Given the description of an element on the screen output the (x, y) to click on. 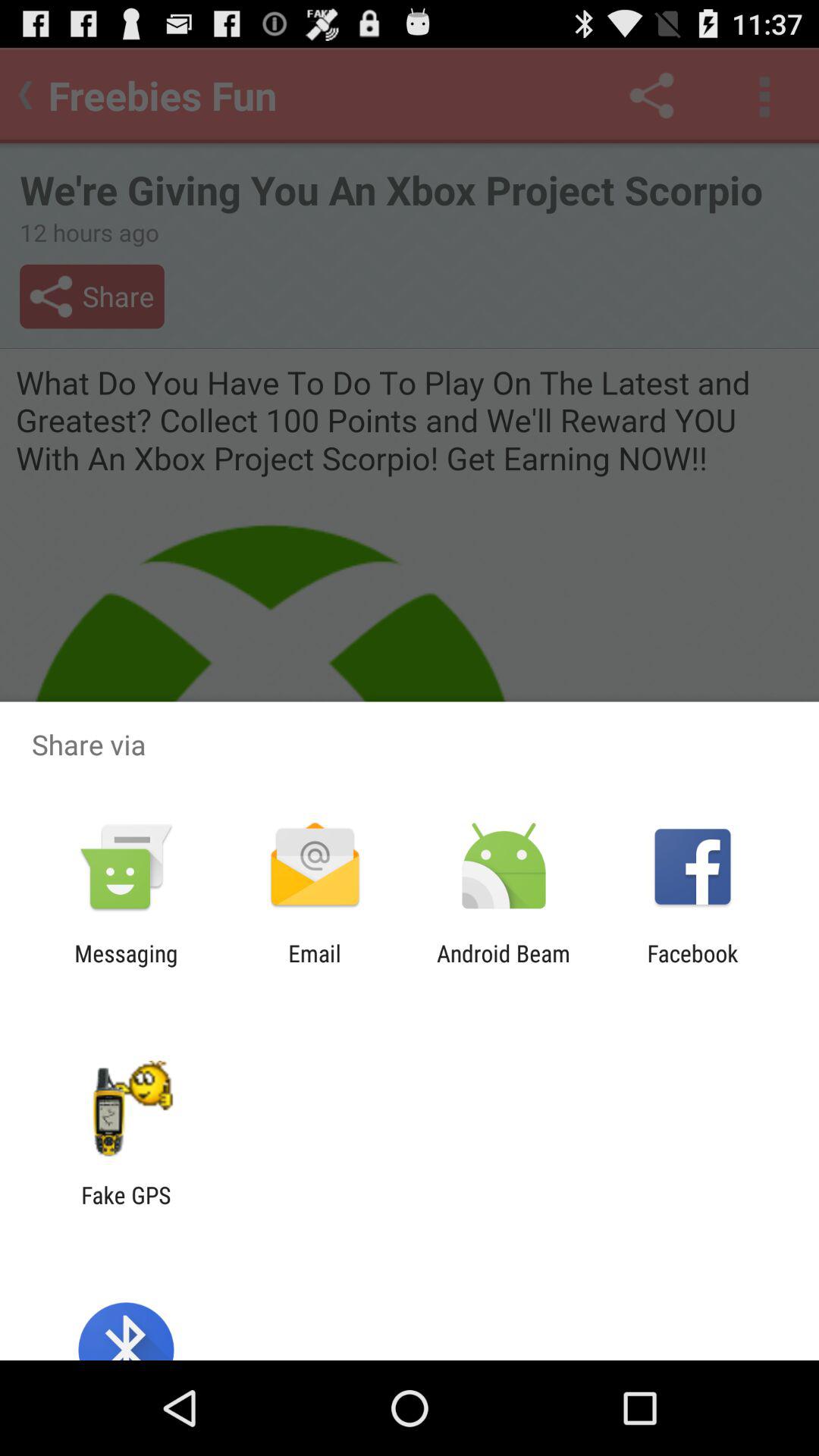
turn on messaging app (126, 966)
